Given the description of an element on the screen output the (x, y) to click on. 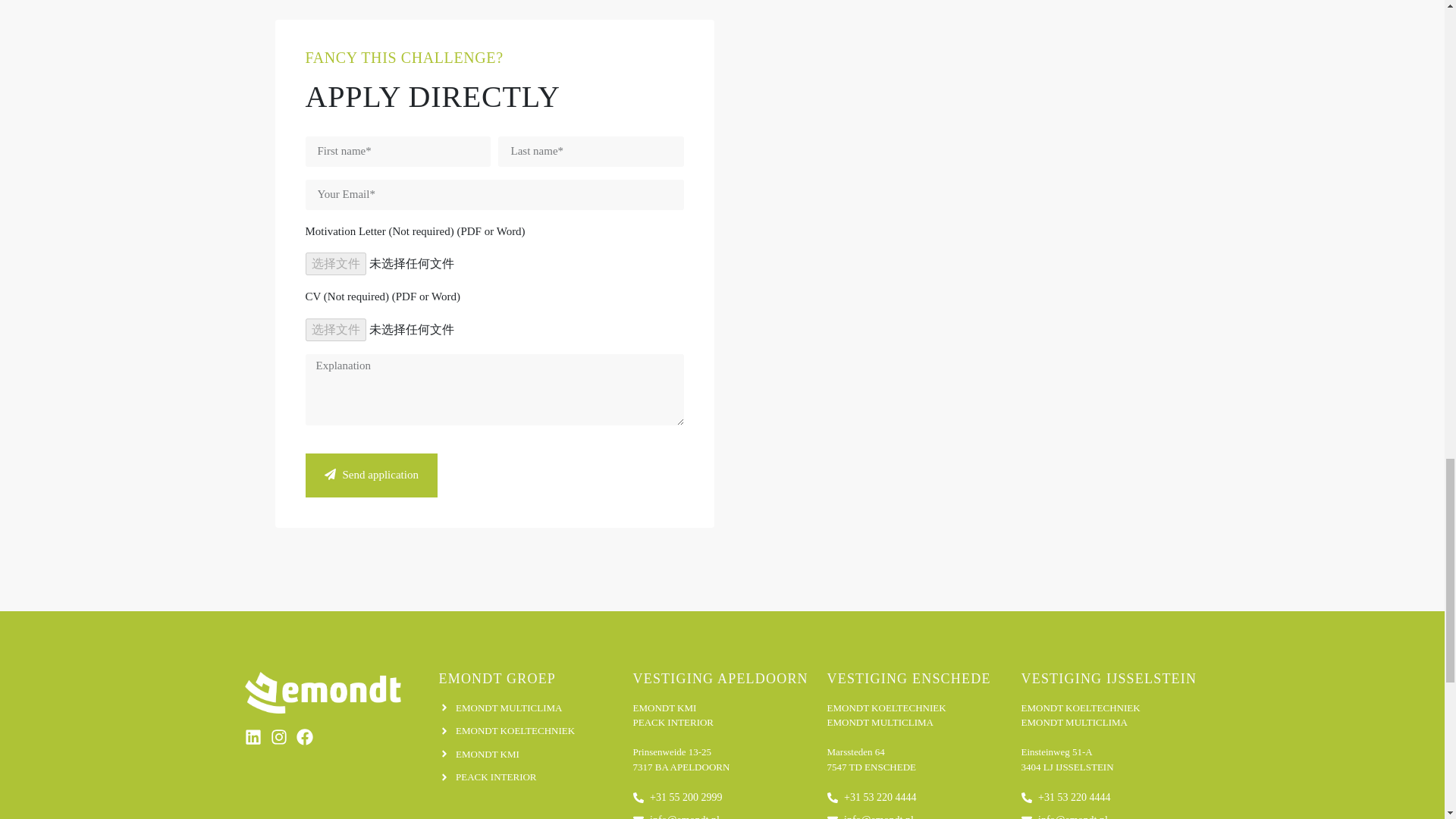
EMONDT MULTICLIMA (527, 708)
Send application (370, 475)
APPLY DIRECTLY (431, 96)
EMONDT KOELTECHNIEK (527, 730)
EMONDT KMI (527, 754)
PEACK INTERIOR (527, 776)
